Given the description of an element on the screen output the (x, y) to click on. 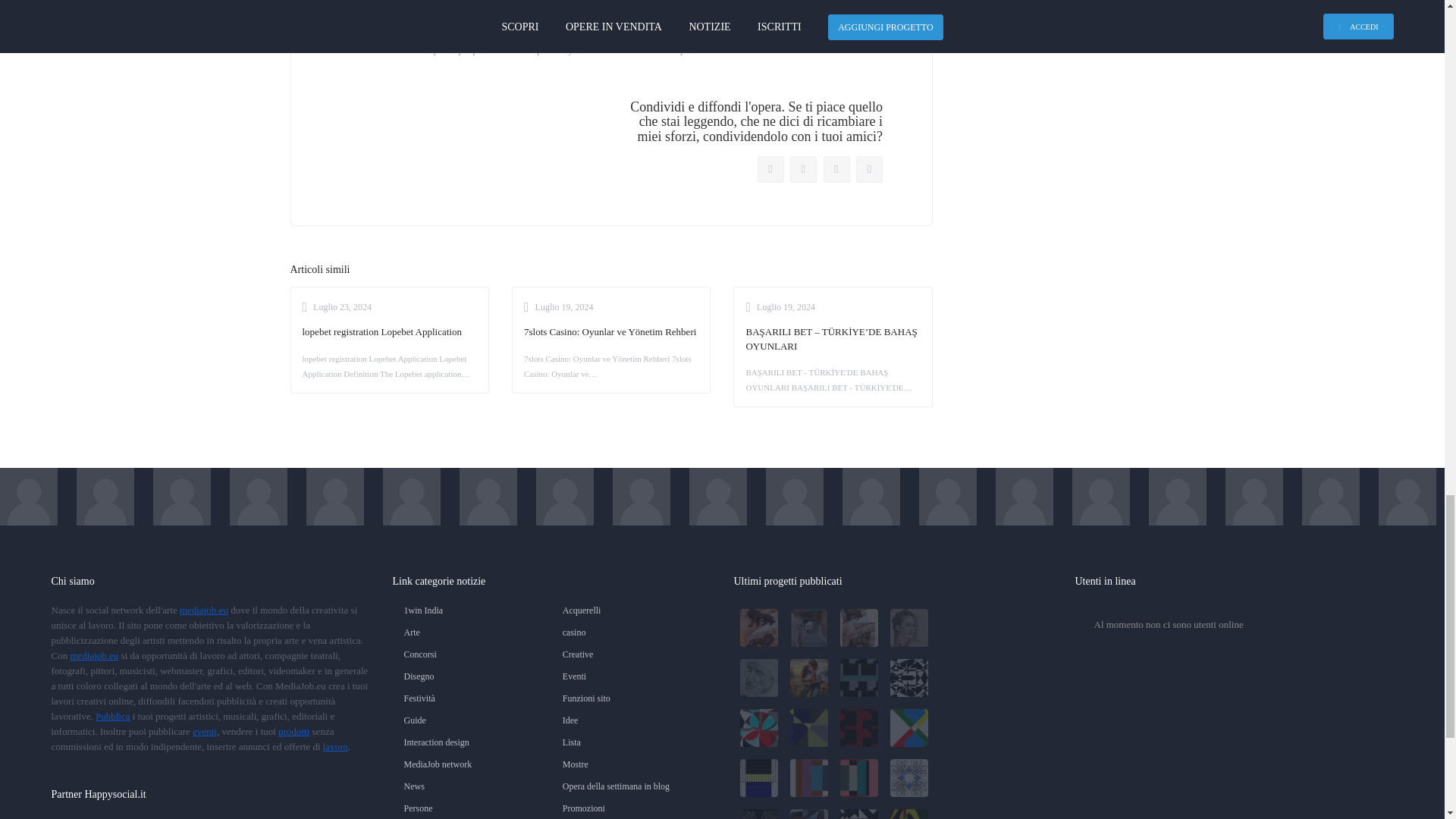
mediajob.eu (93, 655)
mediajob.eu (203, 609)
lopebet registration Lopebet Application (388, 332)
